Given the description of an element on the screen output the (x, y) to click on. 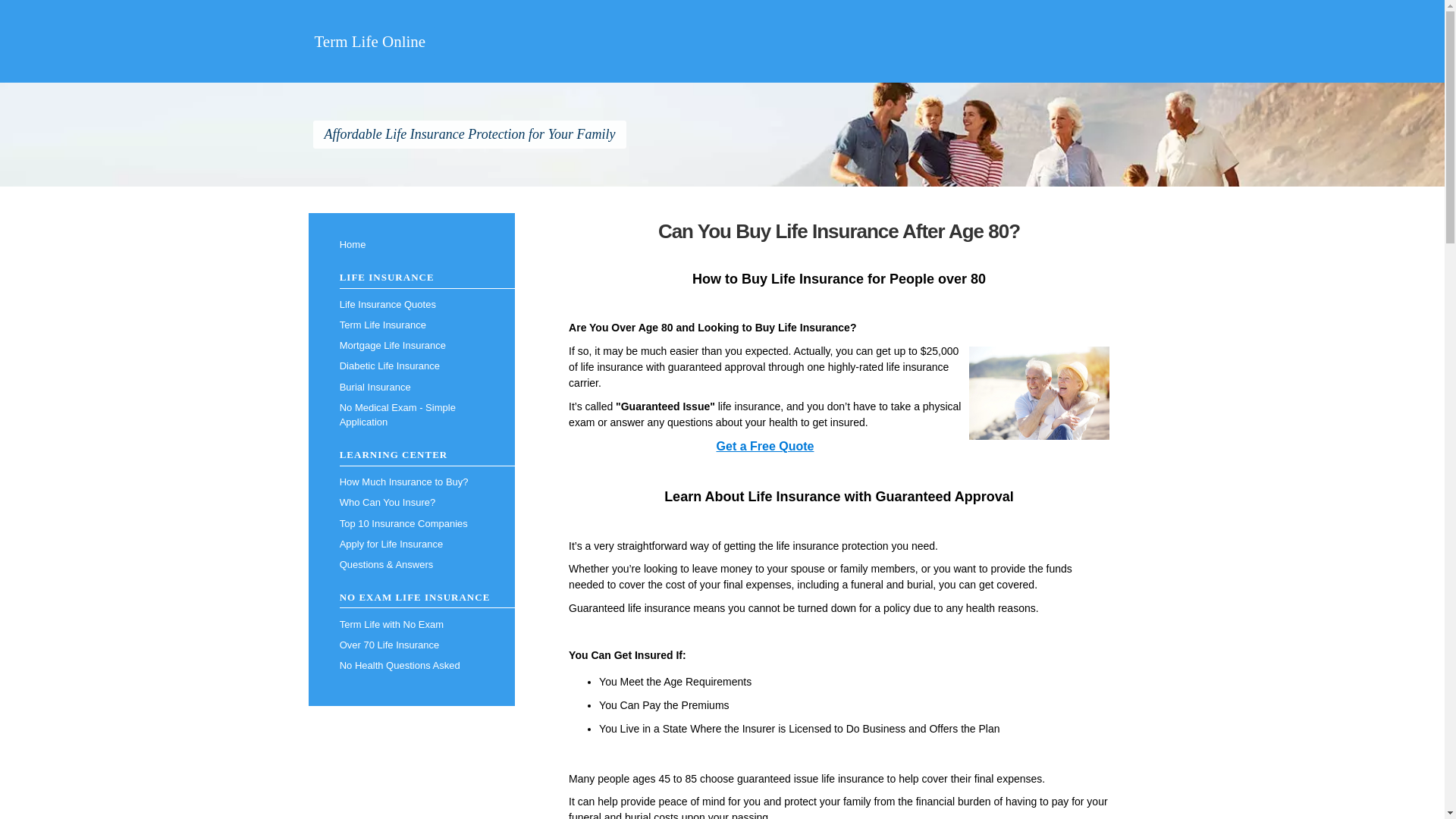
No Health Questions Asked (411, 665)
How Much Insurance to Buy? (411, 482)
Term Life Online (368, 40)
Over 70 Life Insurance (411, 644)
Life Insurance Quotes (411, 304)
No Medical Exam - Simple Application (411, 415)
Home (411, 244)
Top 10 Insurance Companies (411, 523)
Get a Free Quote (764, 446)
